Given the description of an element on the screen output the (x, y) to click on. 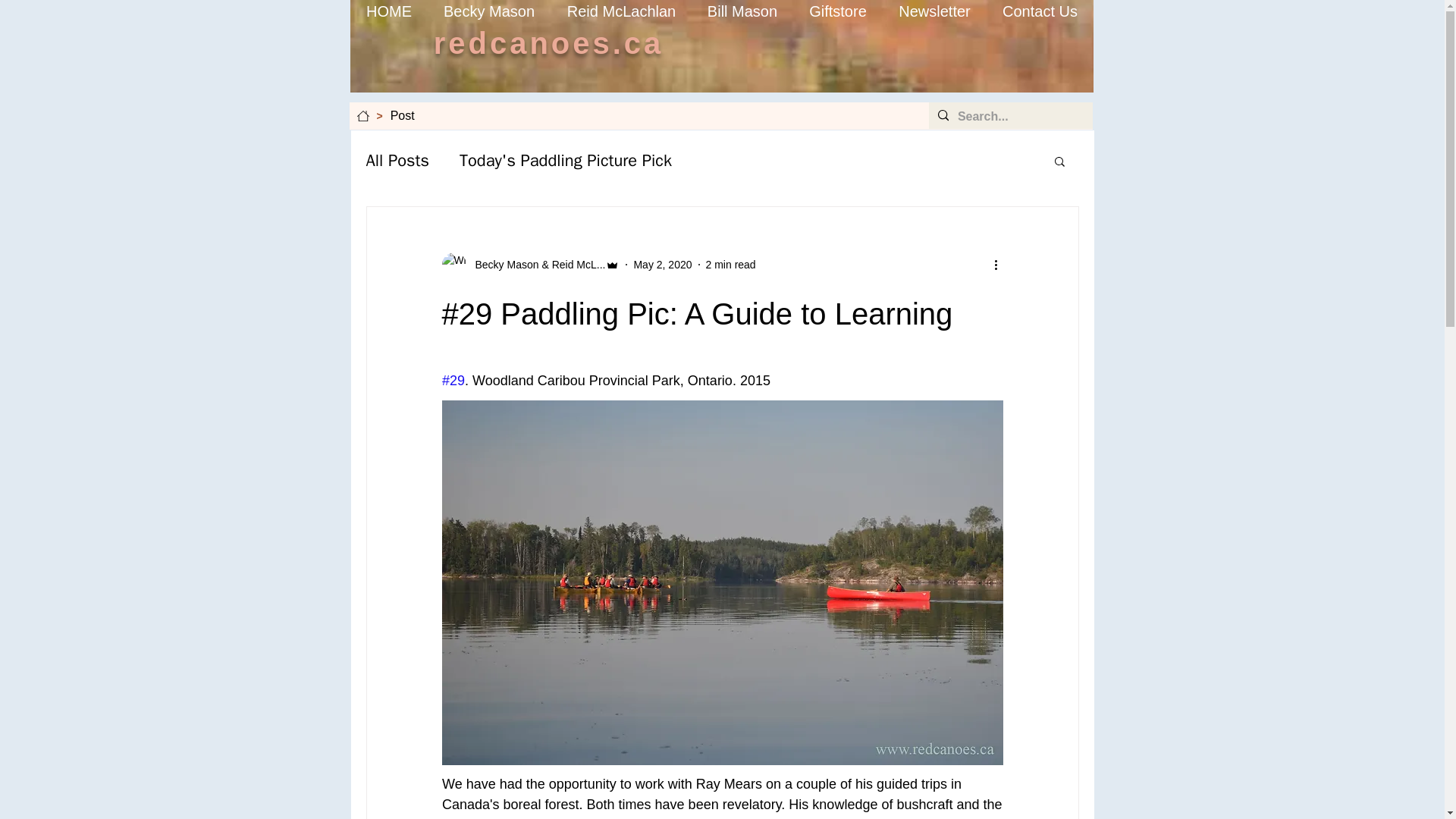
Giftstore (838, 11)
HOME (388, 11)
Contact Us (1039, 11)
May 2, 2020 (662, 263)
redcanoes.ca (548, 42)
Reid McLachlan (620, 11)
Becky Mason (489, 11)
Today's Paddling Picture Pick (565, 160)
redcanoesHeadermenu (721, 46)
2 min read (730, 263)
